Given the description of an element on the screen output the (x, y) to click on. 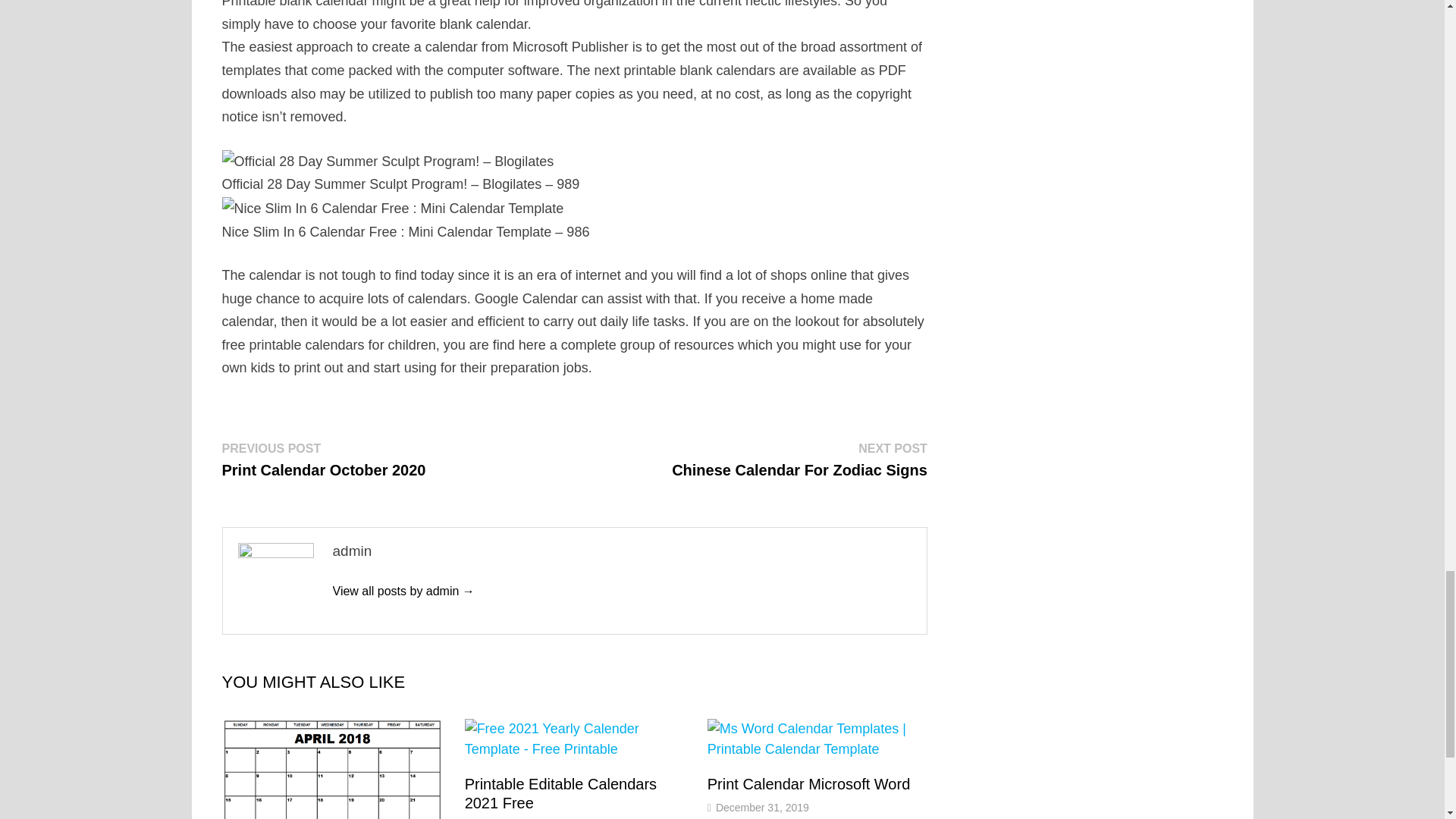
Print Calendar Microsoft Word (809, 783)
Nice Slim In 6 Calendar Free : Mini Calendar Template (799, 459)
Printable Editable Calendars 2021 Free (392, 208)
December 31, 2019 (561, 793)
Printable Editable Calendars 2021 Free (323, 459)
admin (762, 807)
Print Calendar Microsoft Word (561, 793)
